Given the description of an element on the screen output the (x, y) to click on. 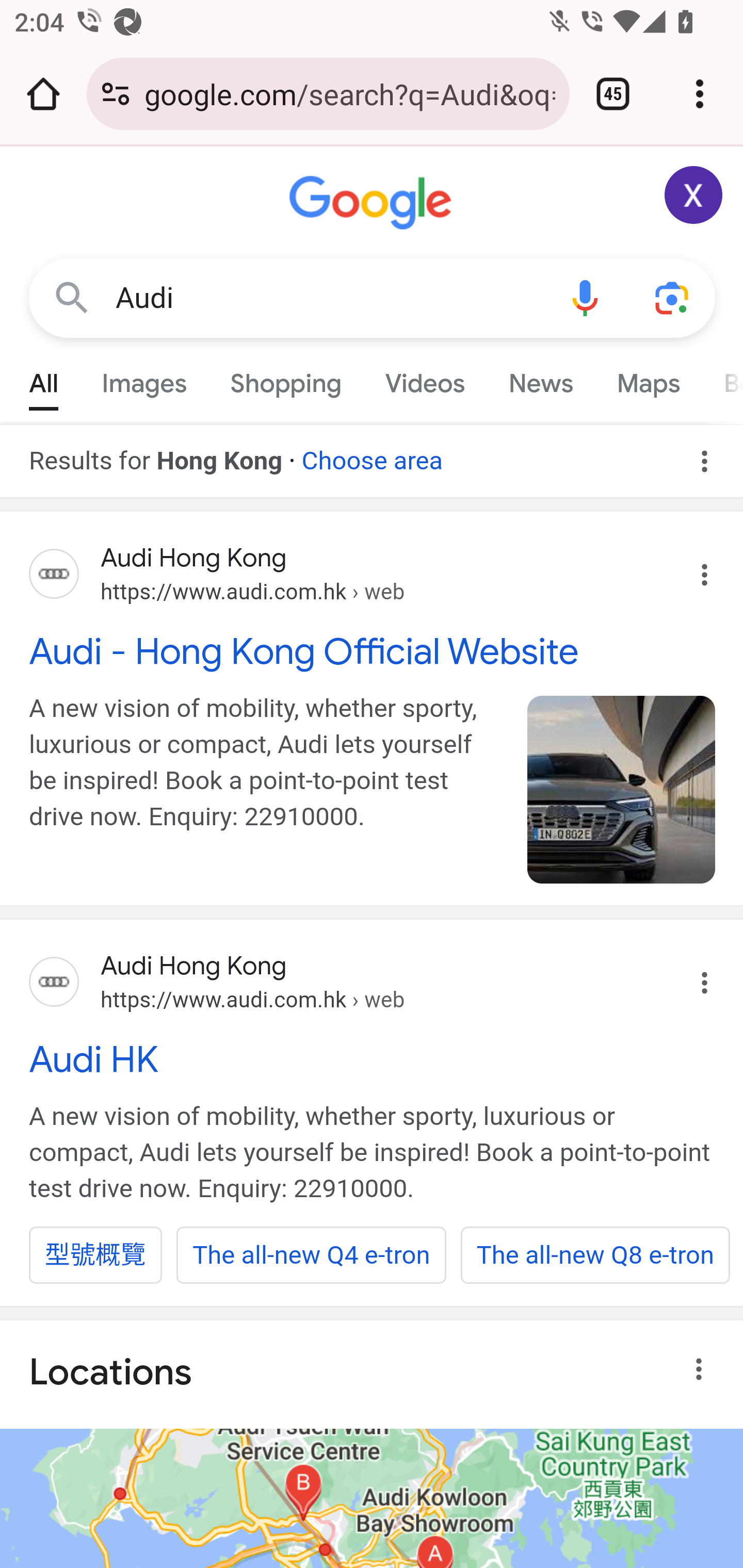
Open the home page (43, 93)
Connection is secure (115, 93)
Switch or close tabs (612, 93)
Customize and control Google Chrome (699, 93)
Google (372, 203)
Google Account: Xiaoran (zxrappiumtest@gmail.com) (694, 195)
Google Search (71, 296)
Search using your camera or photos (672, 296)
Audi (328, 297)
Images (144, 378)
Shopping (285, 378)
Videos (424, 378)
News (540, 378)
Maps (647, 378)
Choose area (371, 453)
Audi - Hong Kong Official Website (372, 651)
en (621, 789)
Audi HK (372, 1059)
型號概覽 (96, 1255)
The all-new Q4 e-tron (311, 1255)
The all-new Q8 e-tron (594, 1255)
About this result (702, 1369)
